Given the description of an element on the screen output the (x, y) to click on. 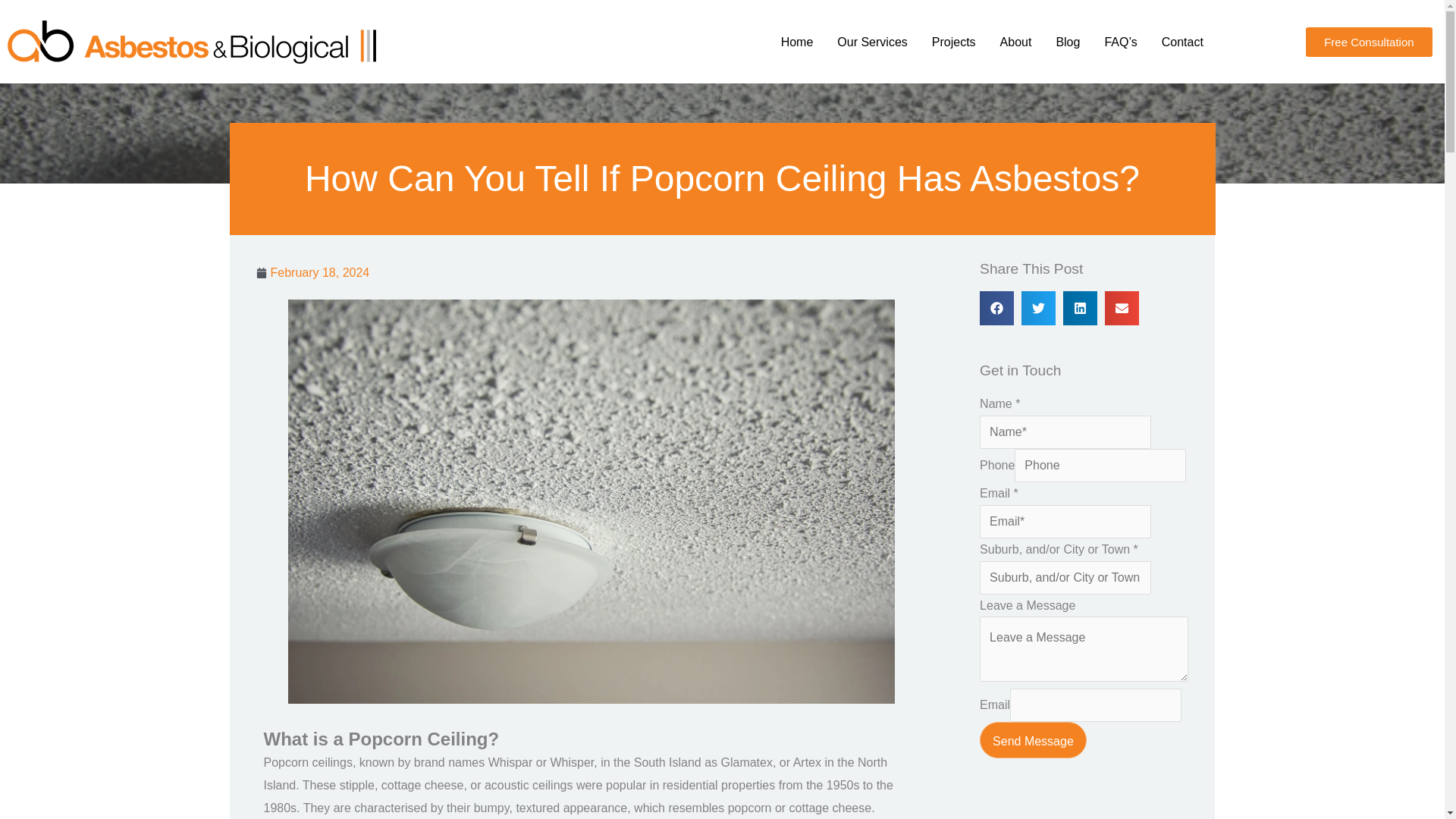
Our Services (871, 42)
Home (796, 42)
Contact (1182, 42)
Projects (954, 42)
About (1015, 42)
